Given the description of an element on the screen output the (x, y) to click on. 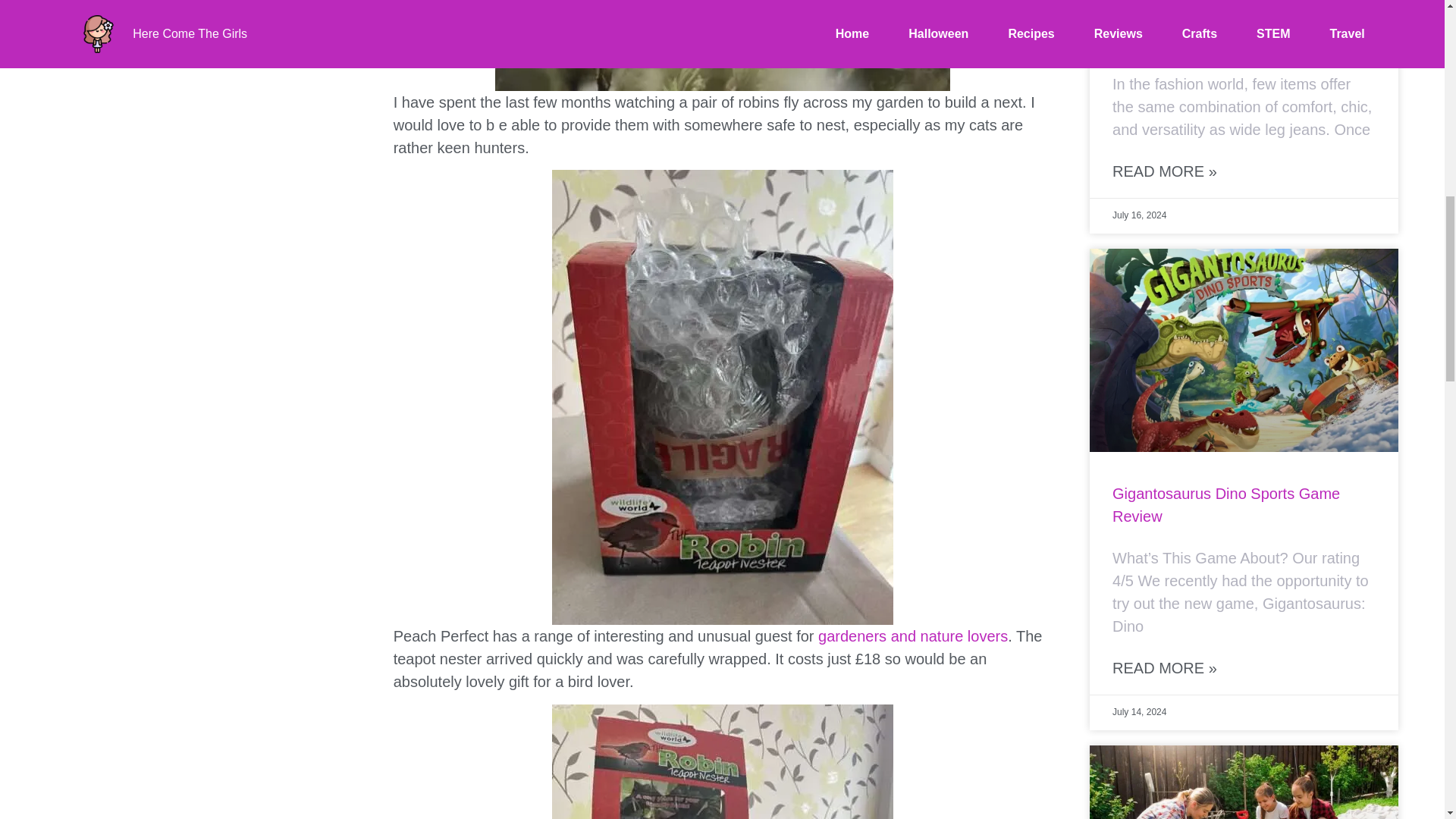
gardeners and nature lovers (912, 636)
